Given the description of an element on the screen output the (x, y) to click on. 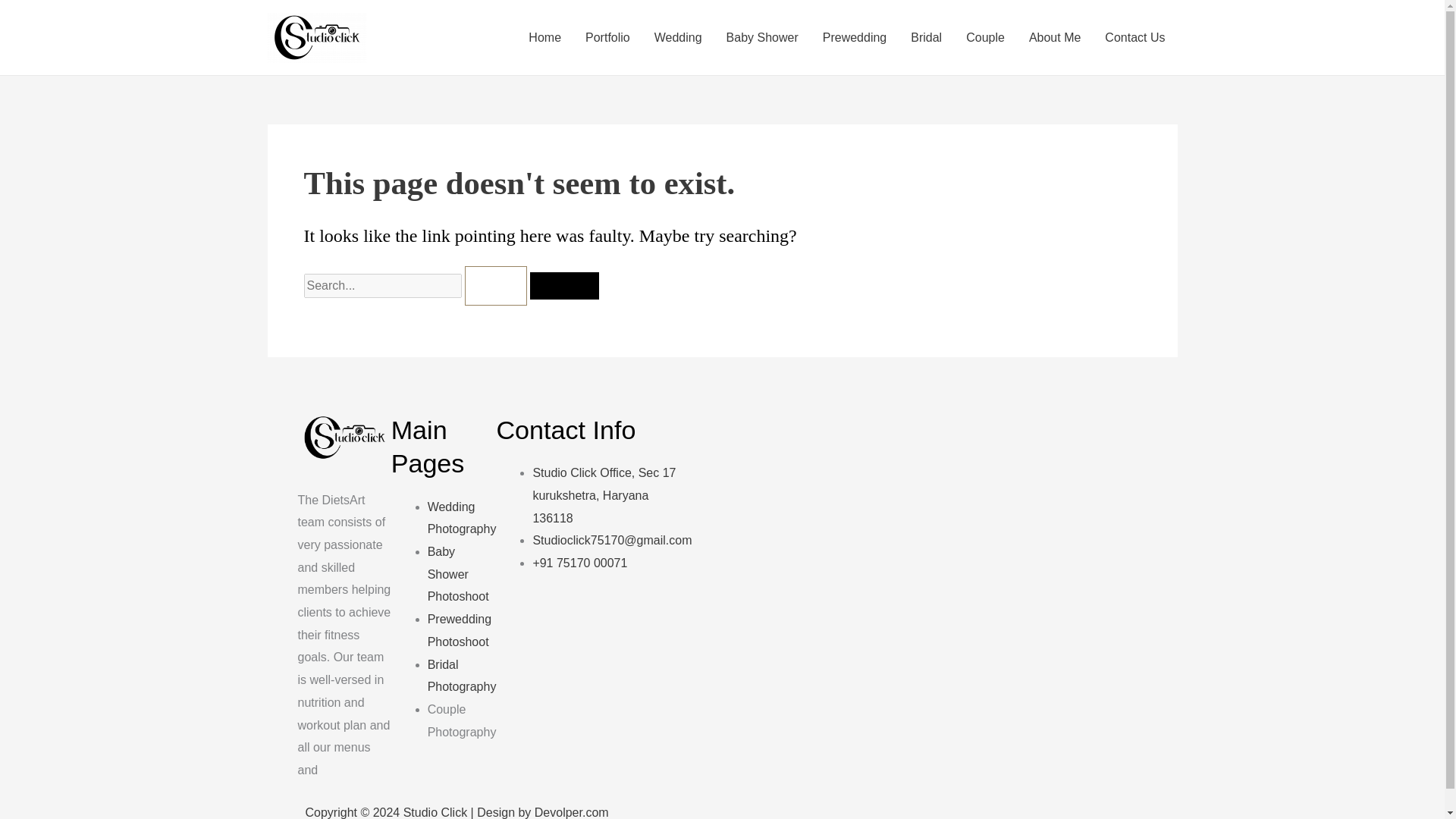
Portfolio (607, 37)
Studio Click Office, Sec 17 kurukshetra, Haryana 136118 (603, 495)
Bridal (925, 37)
Prewedding (854, 37)
Couple (984, 37)
Bridal Photography (462, 675)
Search (563, 285)
Contact Us (1134, 37)
Search (563, 285)
Baby Shower Photoshoot (458, 573)
Wedding (678, 37)
Baby Shower (762, 37)
Home (544, 37)
About Me (1054, 37)
Search (563, 285)
